Given the description of an element on the screen output the (x, y) to click on. 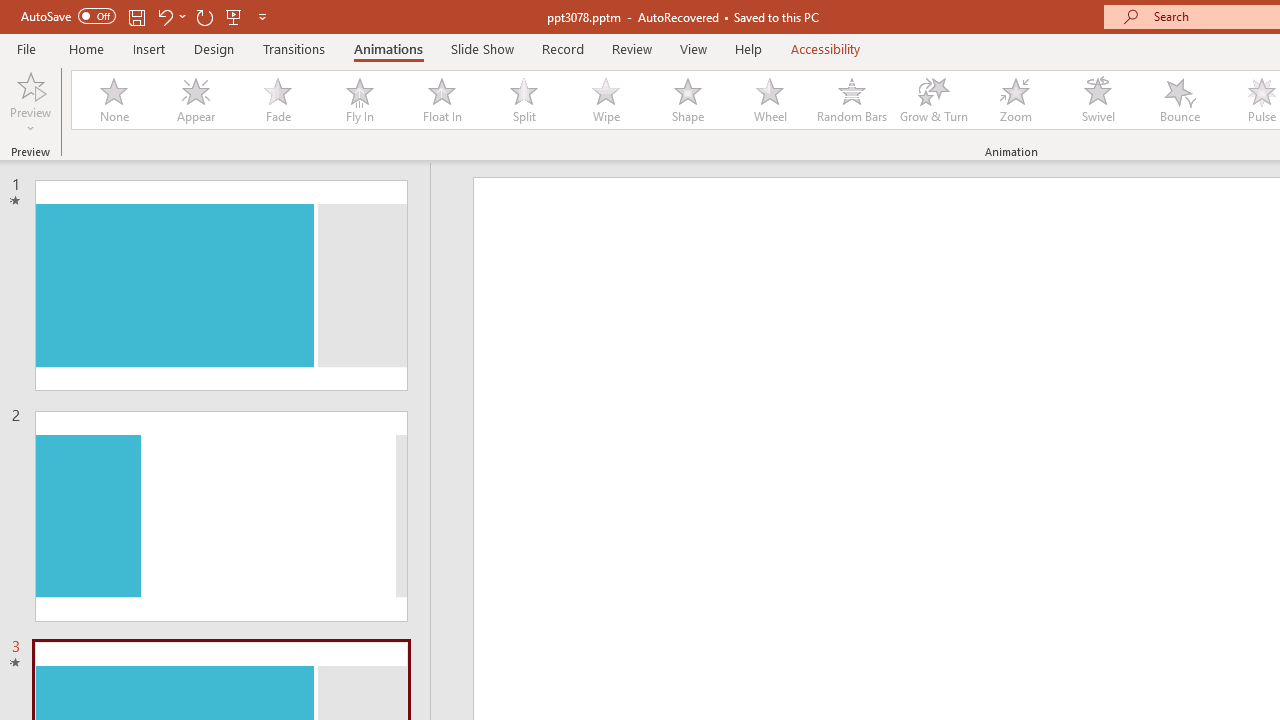
Wheel (770, 100)
Bounce (1180, 100)
Shape (687, 100)
Wipe (605, 100)
Grow & Turn (934, 100)
